Given the description of an element on the screen output the (x, y) to click on. 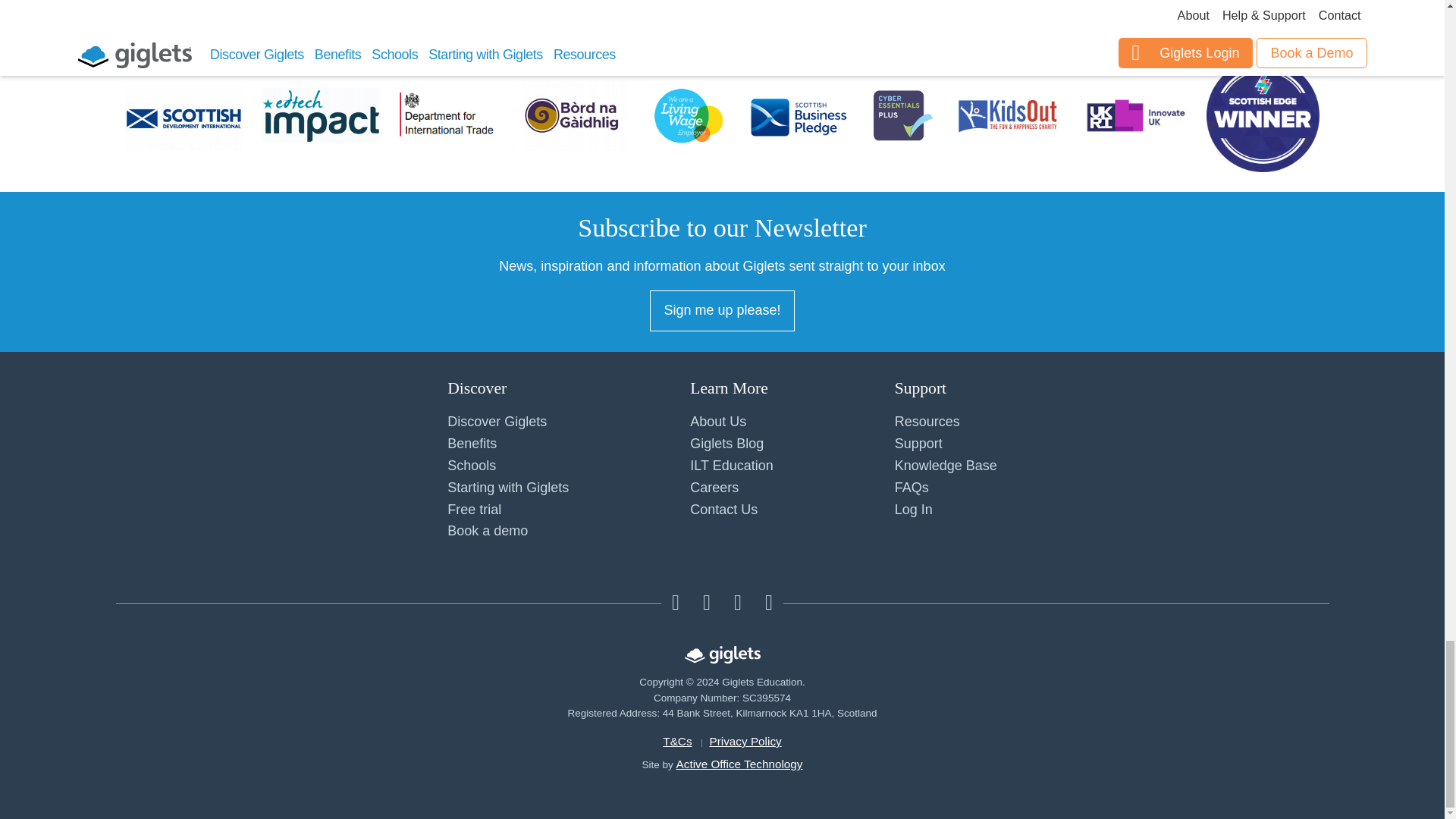
UKRI (1135, 118)
Scottish Business Pledge (798, 117)
Scottish EDGE (1262, 118)
EdTech Impact (320, 117)
Department for International Trade (446, 118)
Living Wage (689, 117)
KidsOut World Stories (1008, 117)
Bord na Gaidhlig (571, 118)
Cyber Essentials (899, 117)
Scottish Development International (183, 118)
